Given the description of an element on the screen output the (x, y) to click on. 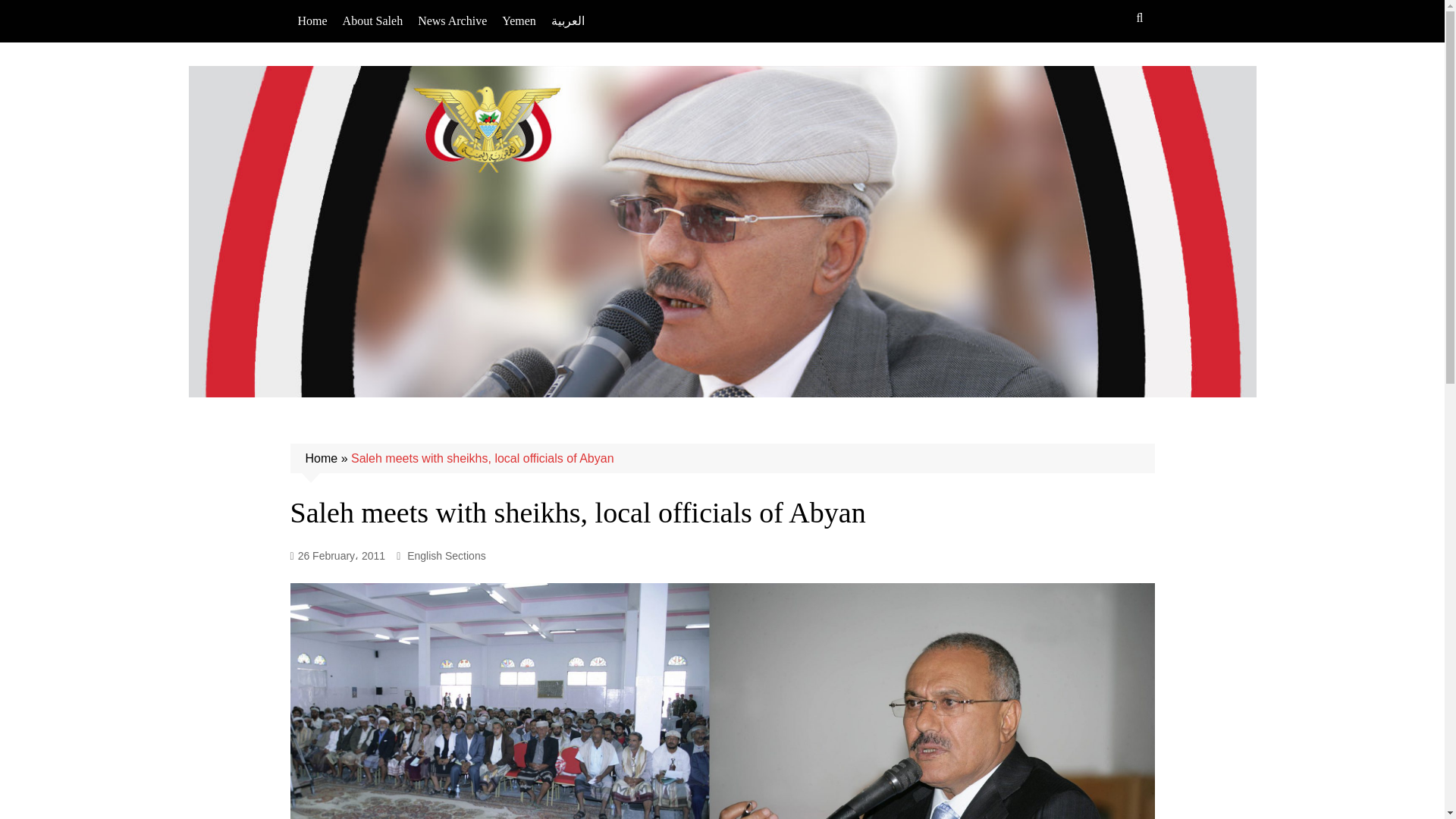
Home (311, 21)
English Sections (446, 555)
Home (320, 458)
News Archive (452, 21)
Yemen (519, 21)
About Saleh (372, 21)
